Given the description of an element on the screen output the (x, y) to click on. 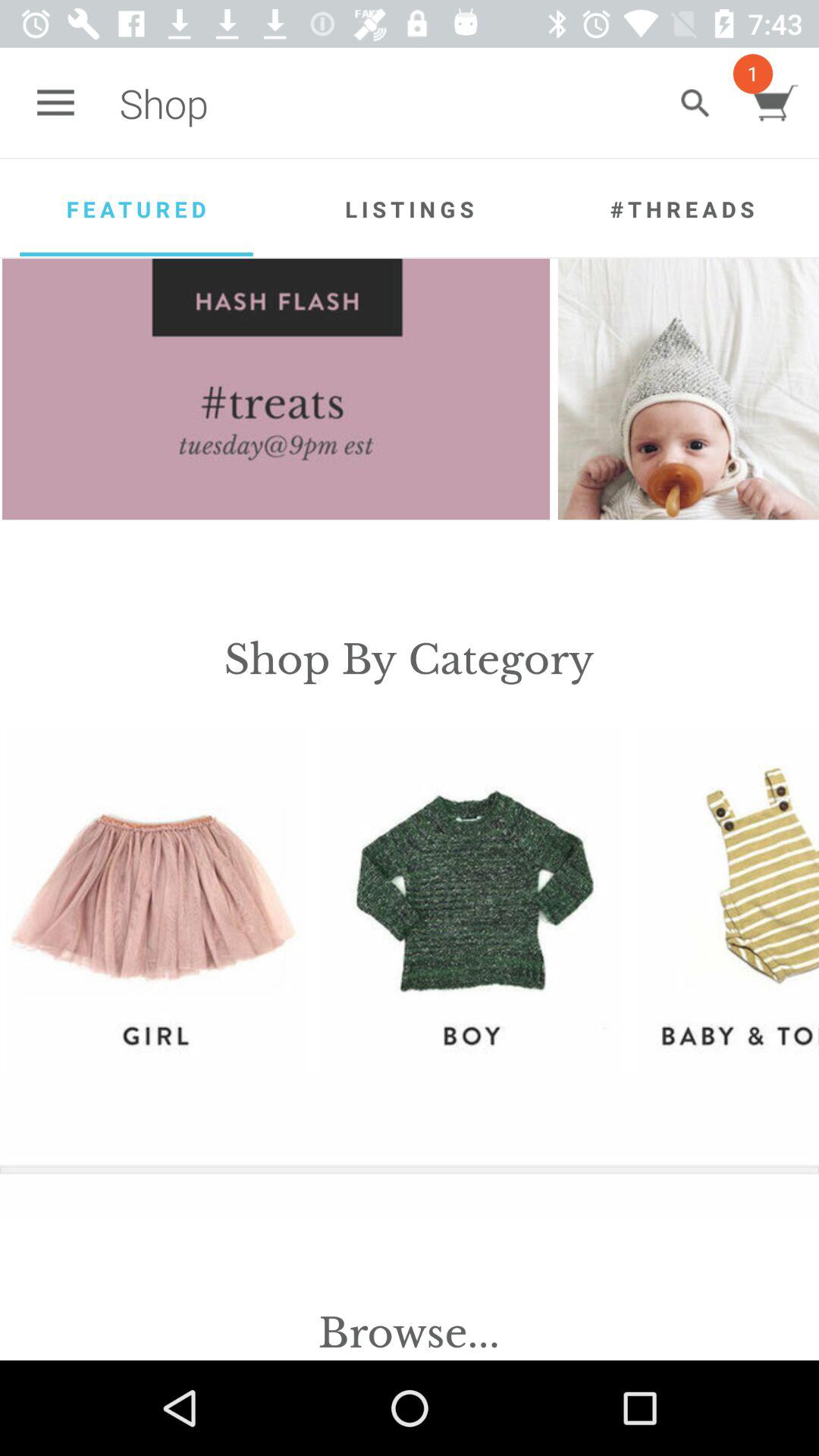
shop the treats category (275, 388)
